Given the description of an element on the screen output the (x, y) to click on. 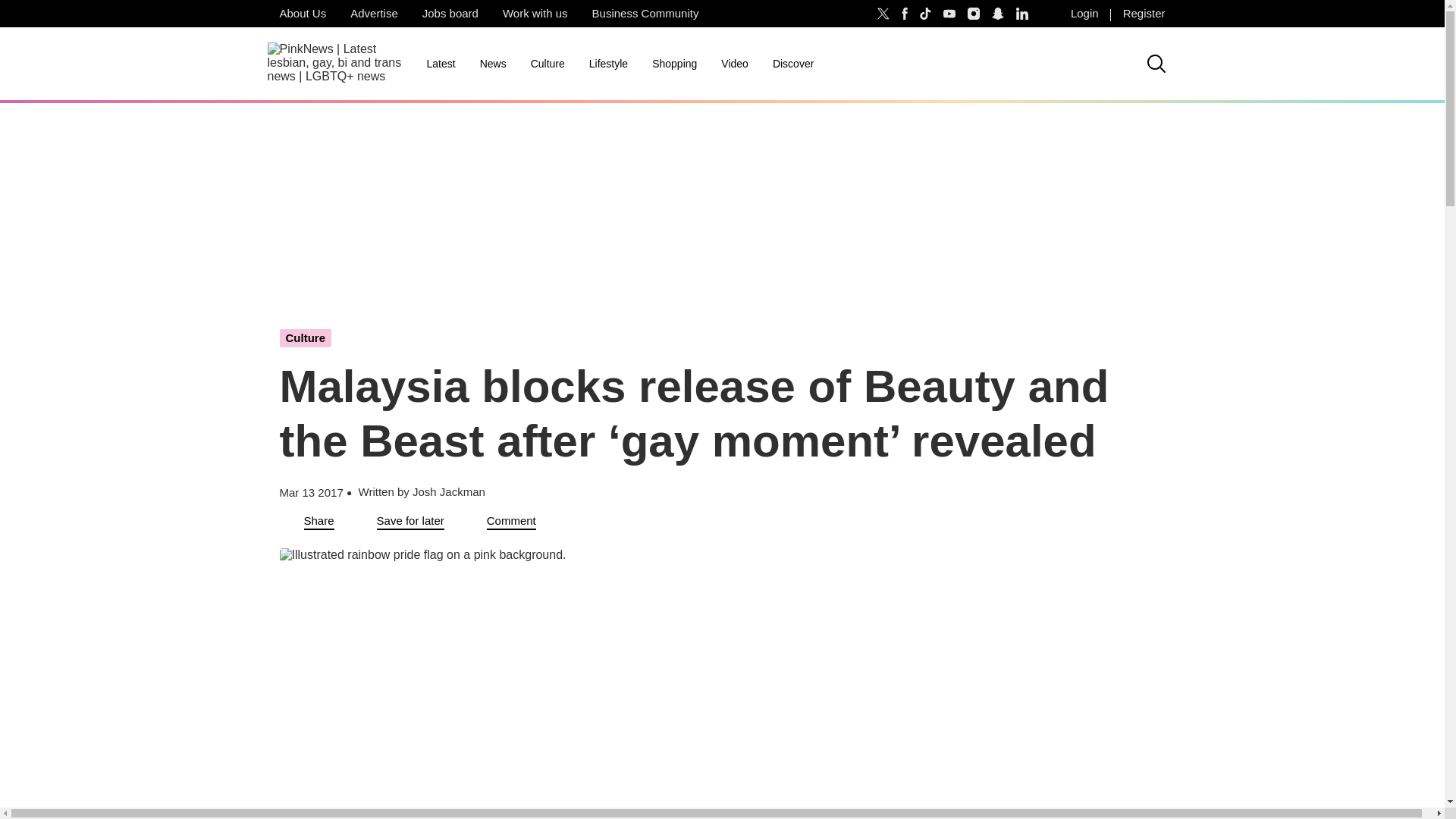
Culture (547, 63)
News (493, 63)
Business Community (645, 13)
Login (1084, 13)
Latest (440, 63)
Jobs board (450, 13)
Advertise (373, 13)
About Us (301, 13)
Lifestyle (608, 63)
Work with us (534, 13)
Register (1143, 13)
Follow PinkNews on LinkedIn (1021, 13)
